Given the description of an element on the screen output the (x, y) to click on. 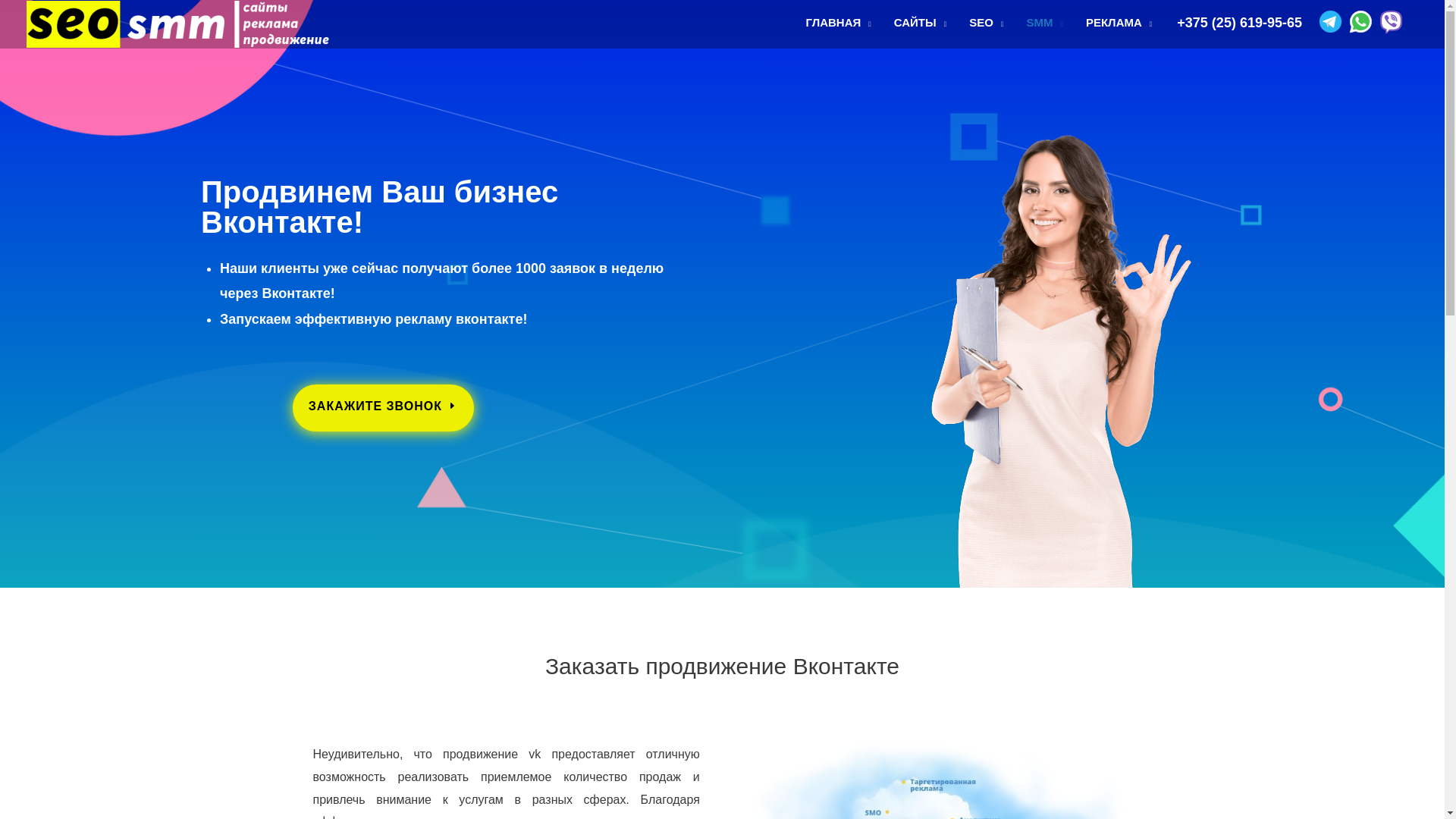
SEO Element type: text (985, 22)
SMM Element type: text (1044, 22)
+375 (25) 619-95-65 Element type: text (1239, 22)
